Given the description of an element on the screen output the (x, y) to click on. 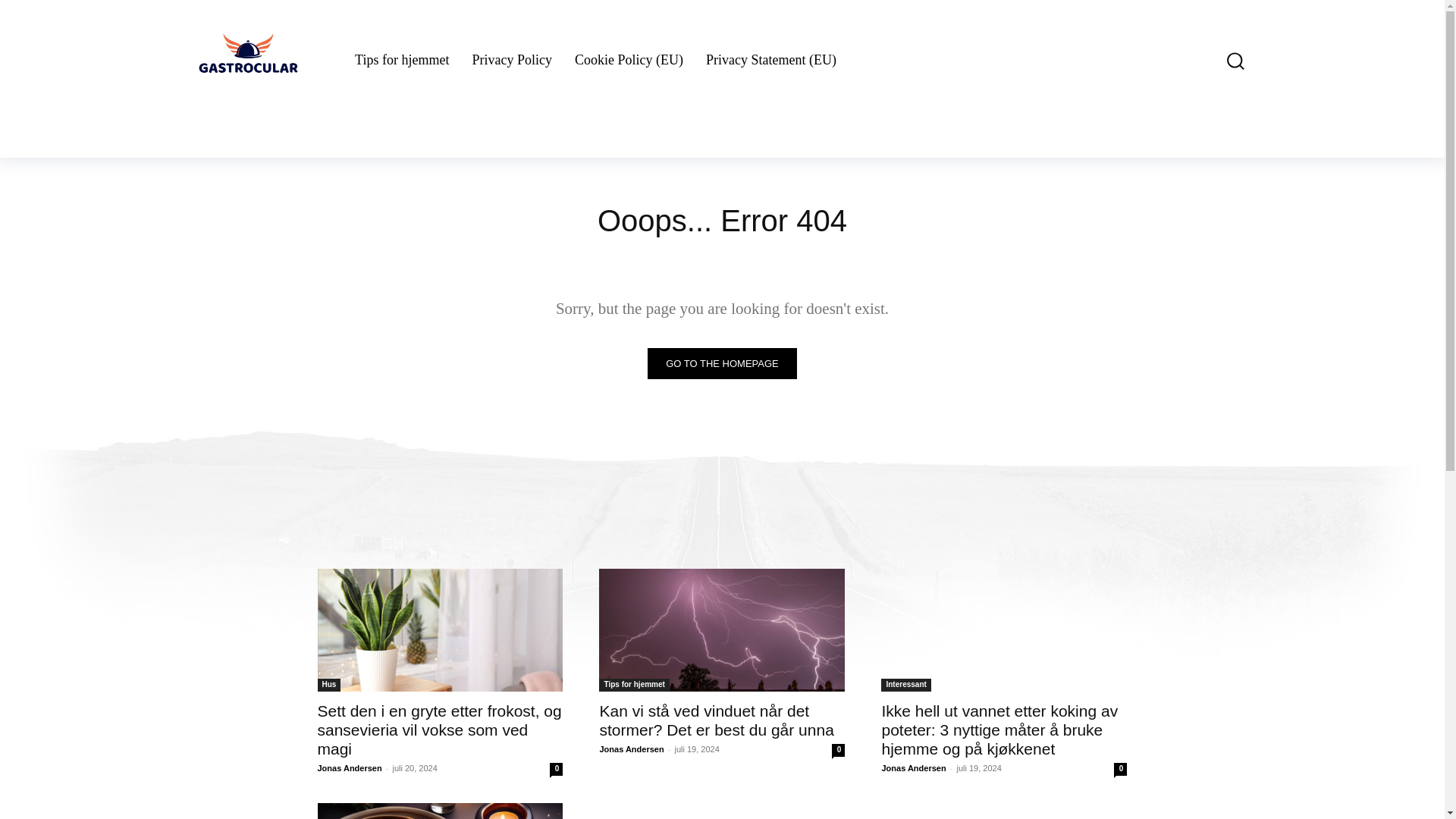
Go to the homepage (721, 363)
Tips for hjemmet (402, 60)
Tips for hjemmet (633, 684)
GO TO THE HOMEPAGE (721, 363)
Privacy Policy (511, 60)
Jonas Andersen (349, 768)
0 (556, 768)
Hus (328, 684)
